Given the description of an element on the screen output the (x, y) to click on. 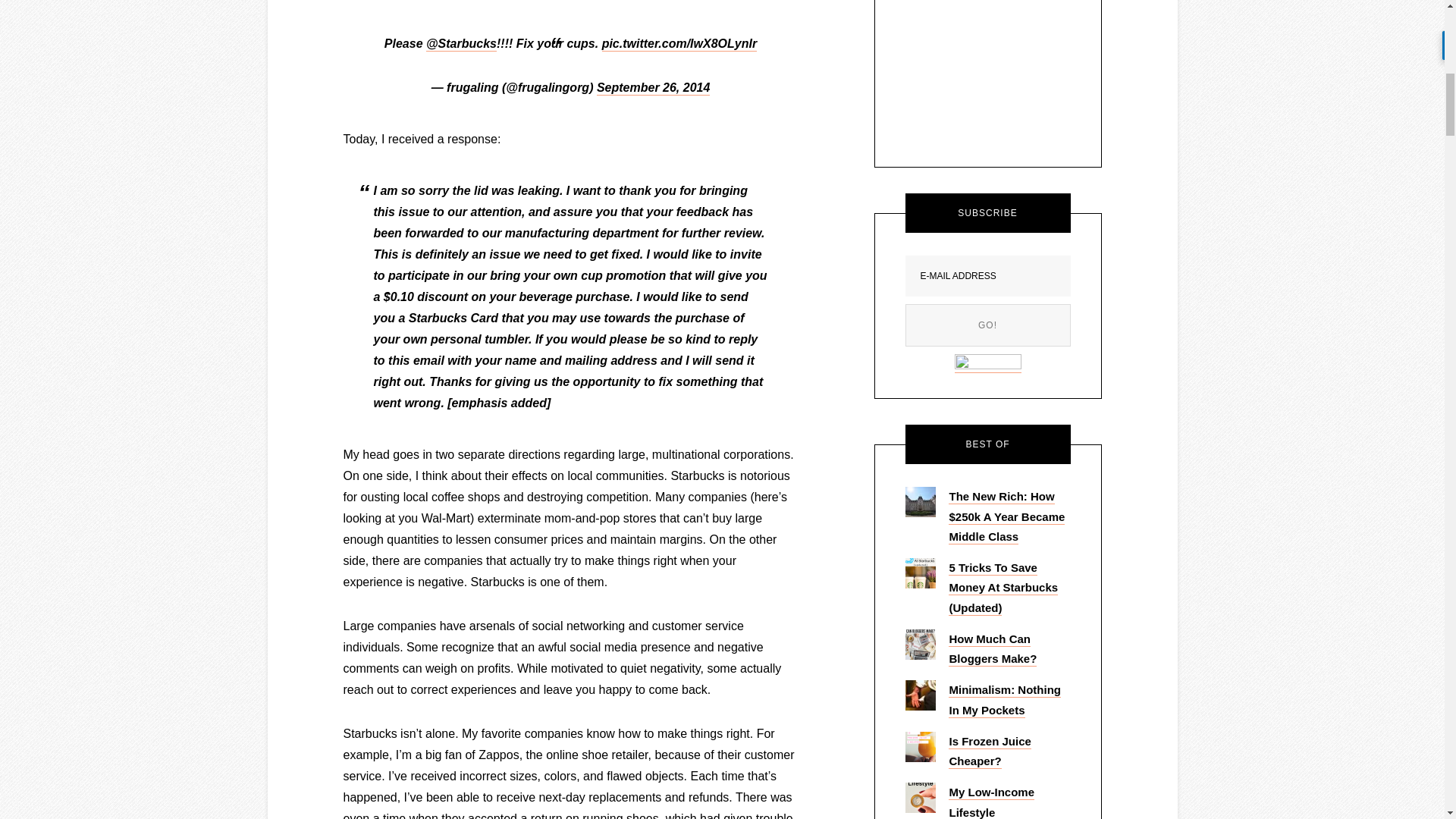
GO! (987, 324)
